Given the description of an element on the screen output the (x, y) to click on. 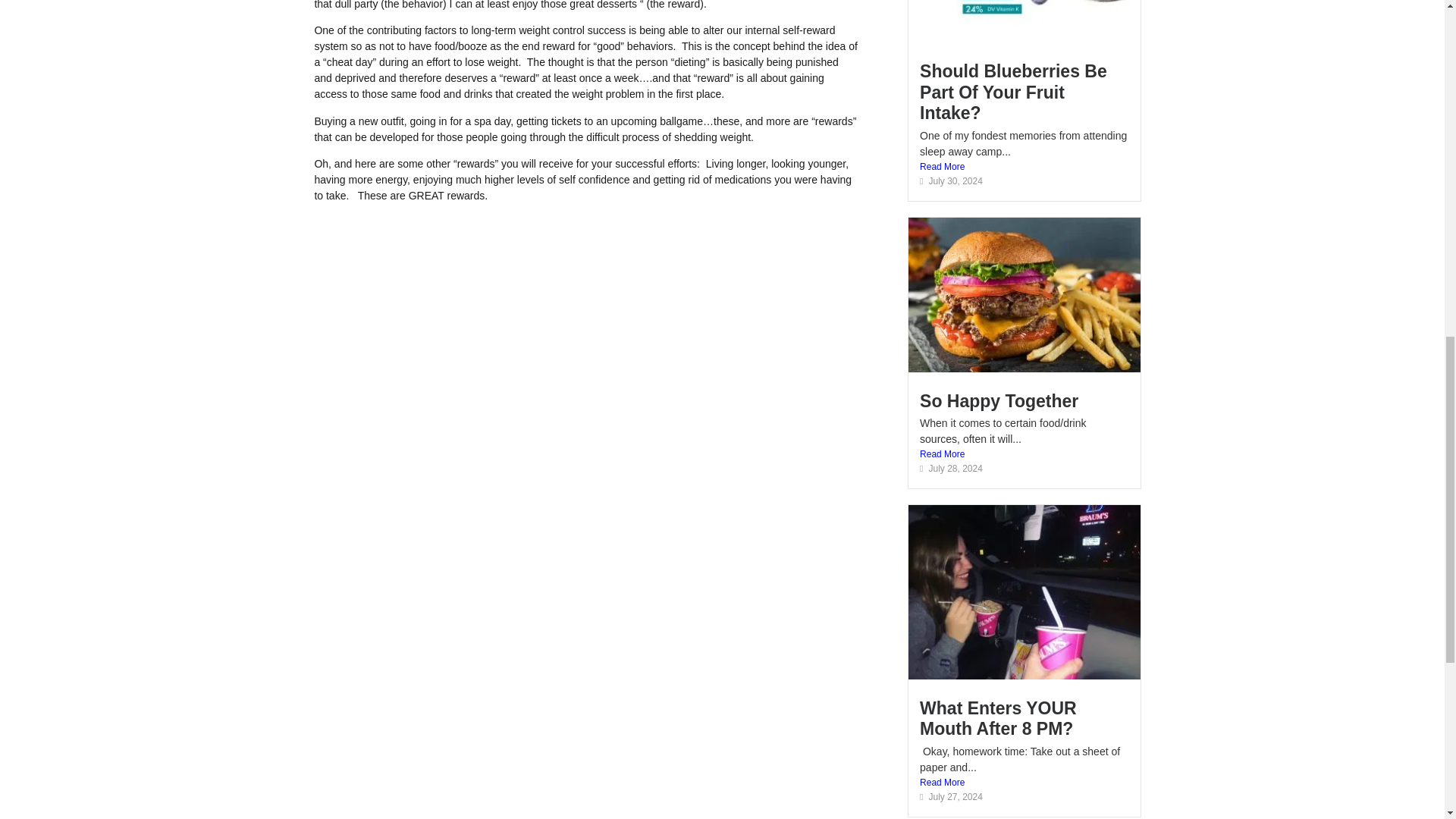
Should Blueberries Be Part Of Your Fruit Intake? (1013, 91)
So Happy Together (999, 401)
What Enters YOUR Mouth After 8 PM? (998, 718)
